Given the description of an element on the screen output the (x, y) to click on. 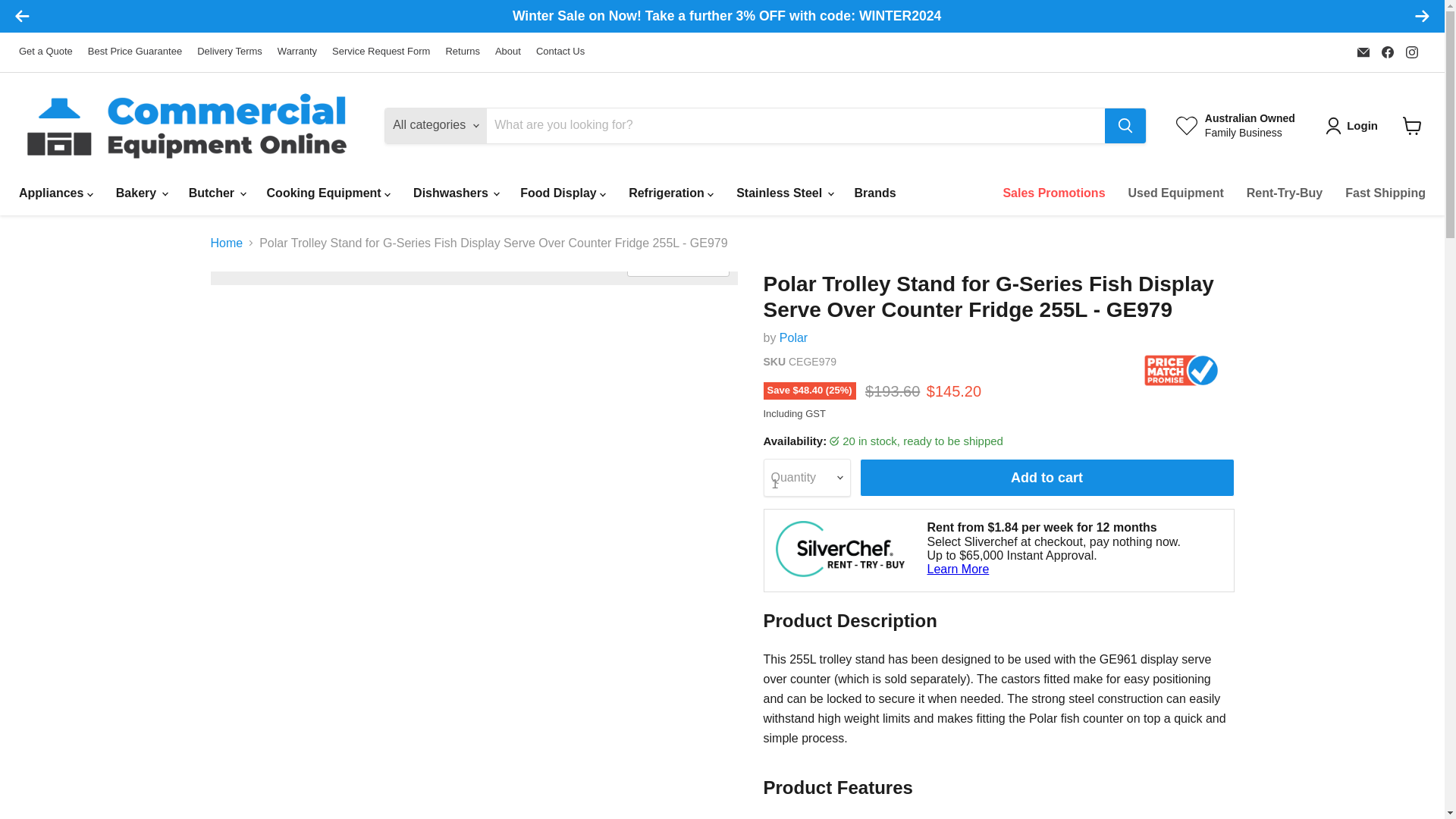
Warranty (297, 51)
Find us on Instagram (1411, 52)
Contact Us (560, 51)
Polar (793, 337)
About (508, 51)
Silver Chef Leasing (839, 548)
Best Price Guarantee (134, 51)
Facebook (1387, 52)
Get a Quote (45, 51)
Instagram (1411, 52)
Email (1363, 52)
Find us on Facebook (1387, 52)
Returns (462, 51)
Email Commercial Equipment Online (1363, 52)
Service Request Form (380, 51)
